Given the description of an element on the screen output the (x, y) to click on. 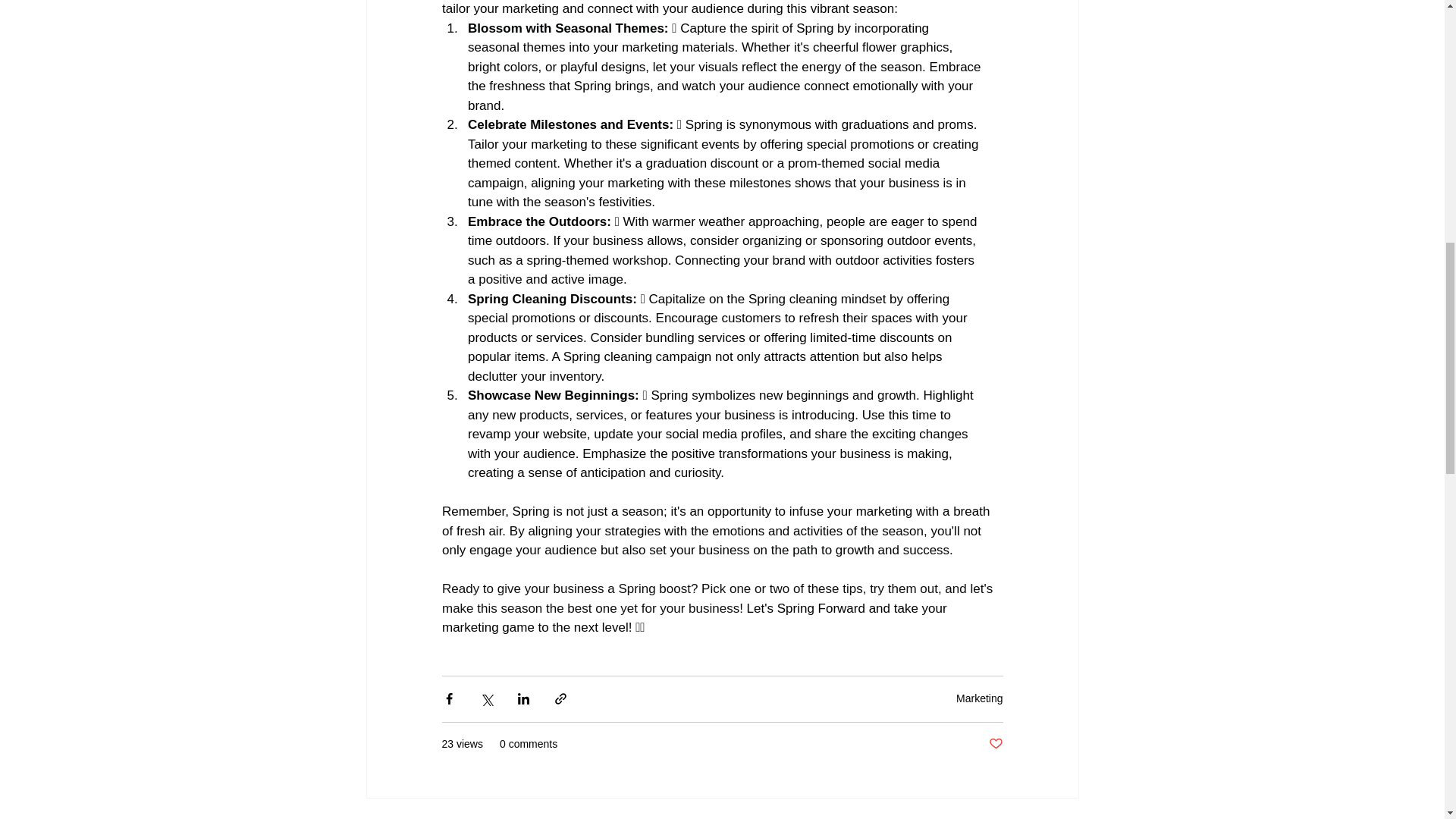
See All (1061, 817)
Marketing (979, 698)
Post not marked as liked (995, 744)
